Given the description of an element on the screen output the (x, y) to click on. 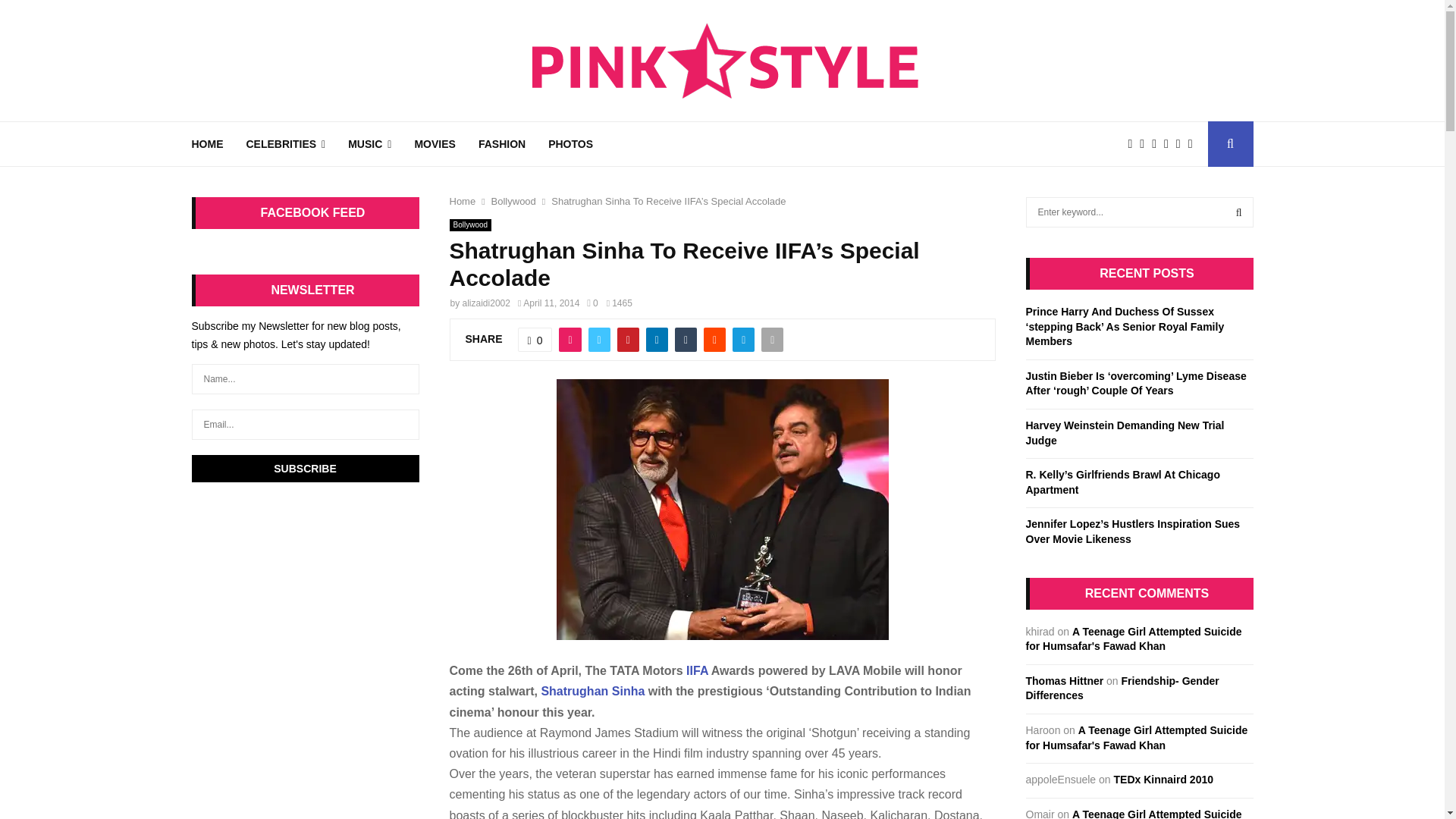
Subscribe (304, 468)
CELEBRITIES (285, 144)
0 (591, 303)
MUSIC (369, 144)
Bollywood (470, 224)
alizaidi2002 (487, 303)
IIFA (696, 670)
Like (535, 339)
Shatrughan Sinha (592, 690)
PHOTOS (570, 144)
